Given the description of an element on the screen output the (x, y) to click on. 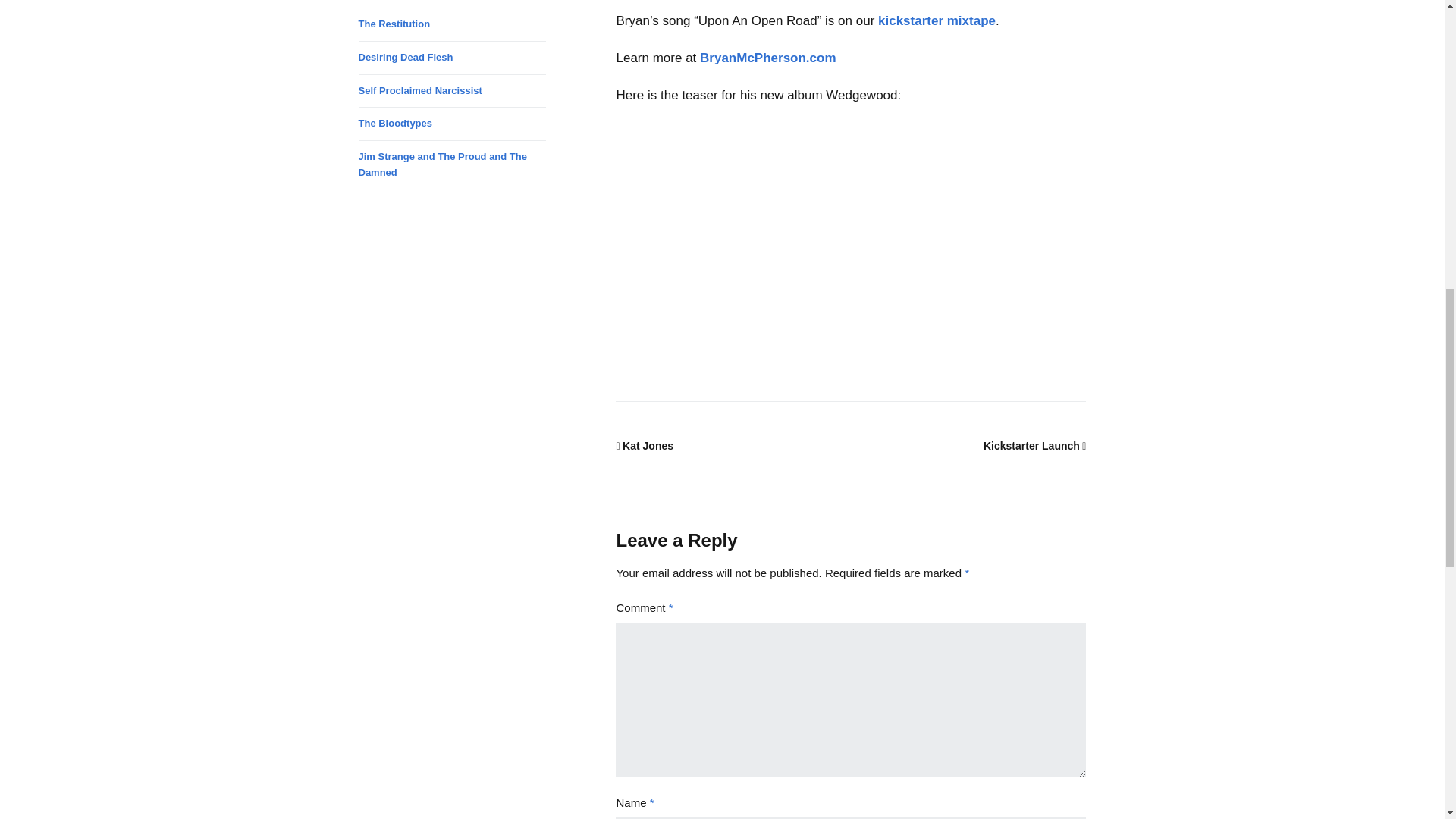
Kickstarter Launch (1035, 445)
The Bloodtypes (395, 122)
The Restitution (393, 23)
Desiring Dead Flesh (405, 57)
Self Proclaimed Narcissist (419, 90)
Kat Jones (643, 445)
kickstarter mixtape (936, 20)
BryanMcPherson.com (767, 57)
Jim Strange and The Proud and The Damned (441, 164)
